Given the description of an element on the screen output the (x, y) to click on. 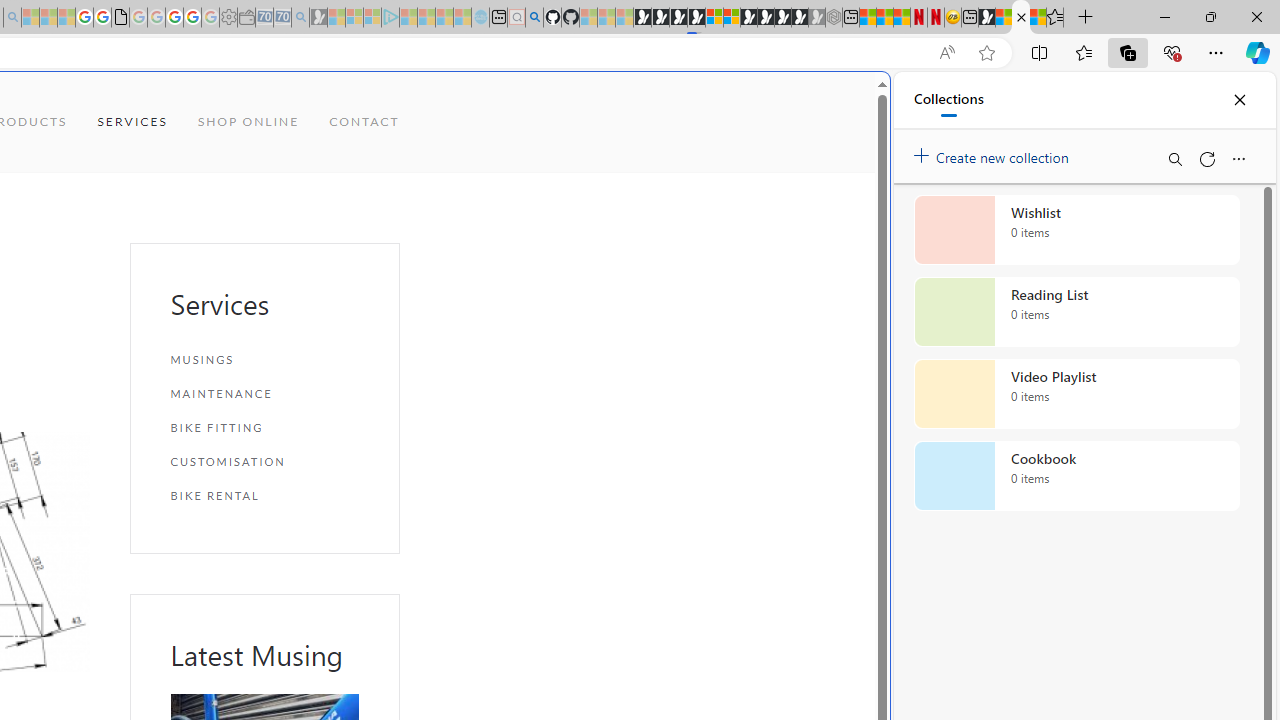
MAINTENANCE (264, 394)
SERVICES (132, 122)
CUSTOMISATION (264, 461)
CONTACT (363, 122)
More options menu (1238, 158)
Close split screen (844, 102)
